Given the description of an element on the screen output the (x, y) to click on. 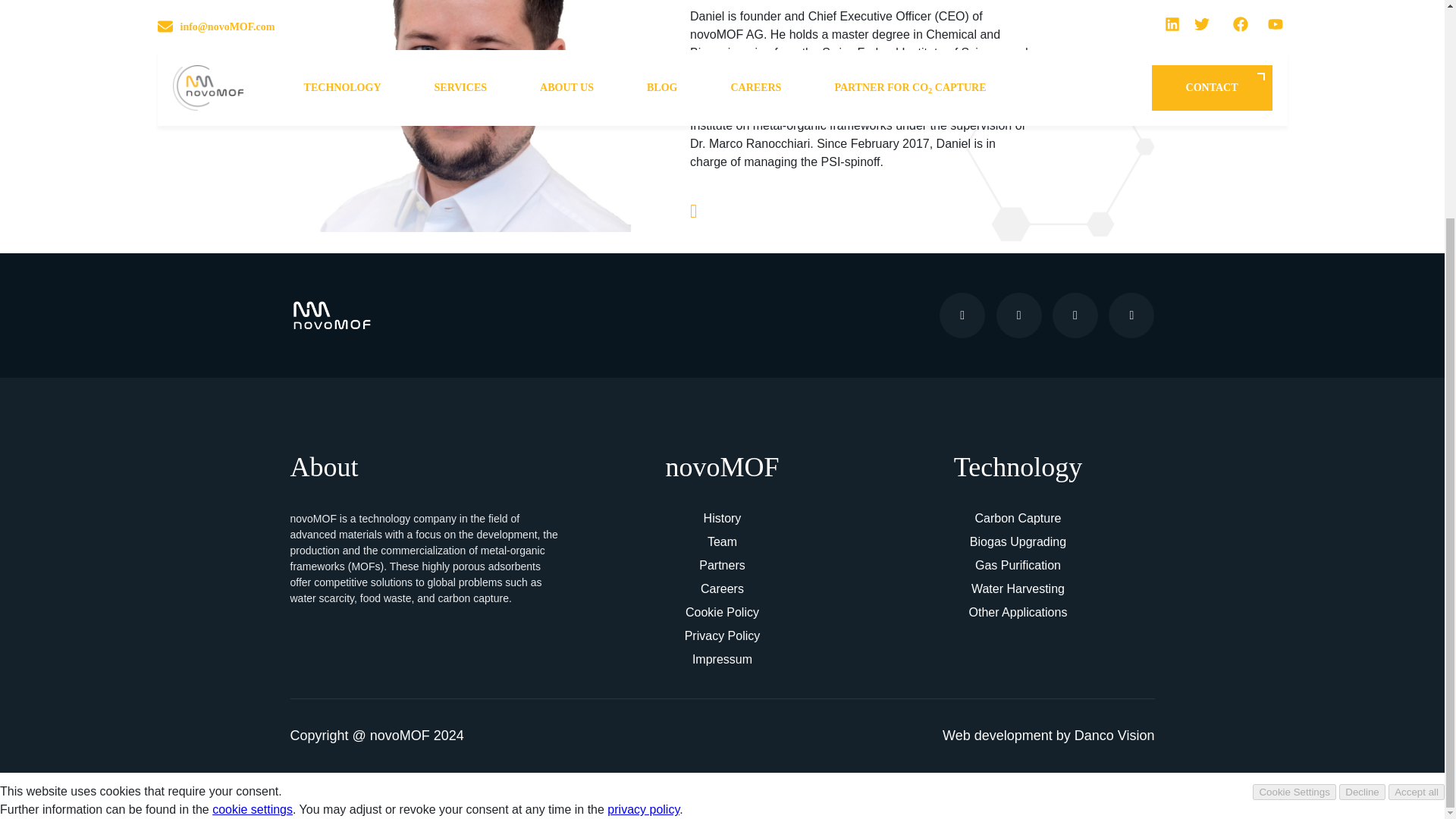
Page 8 (425, 558)
